Given the description of an element on the screen output the (x, y) to click on. 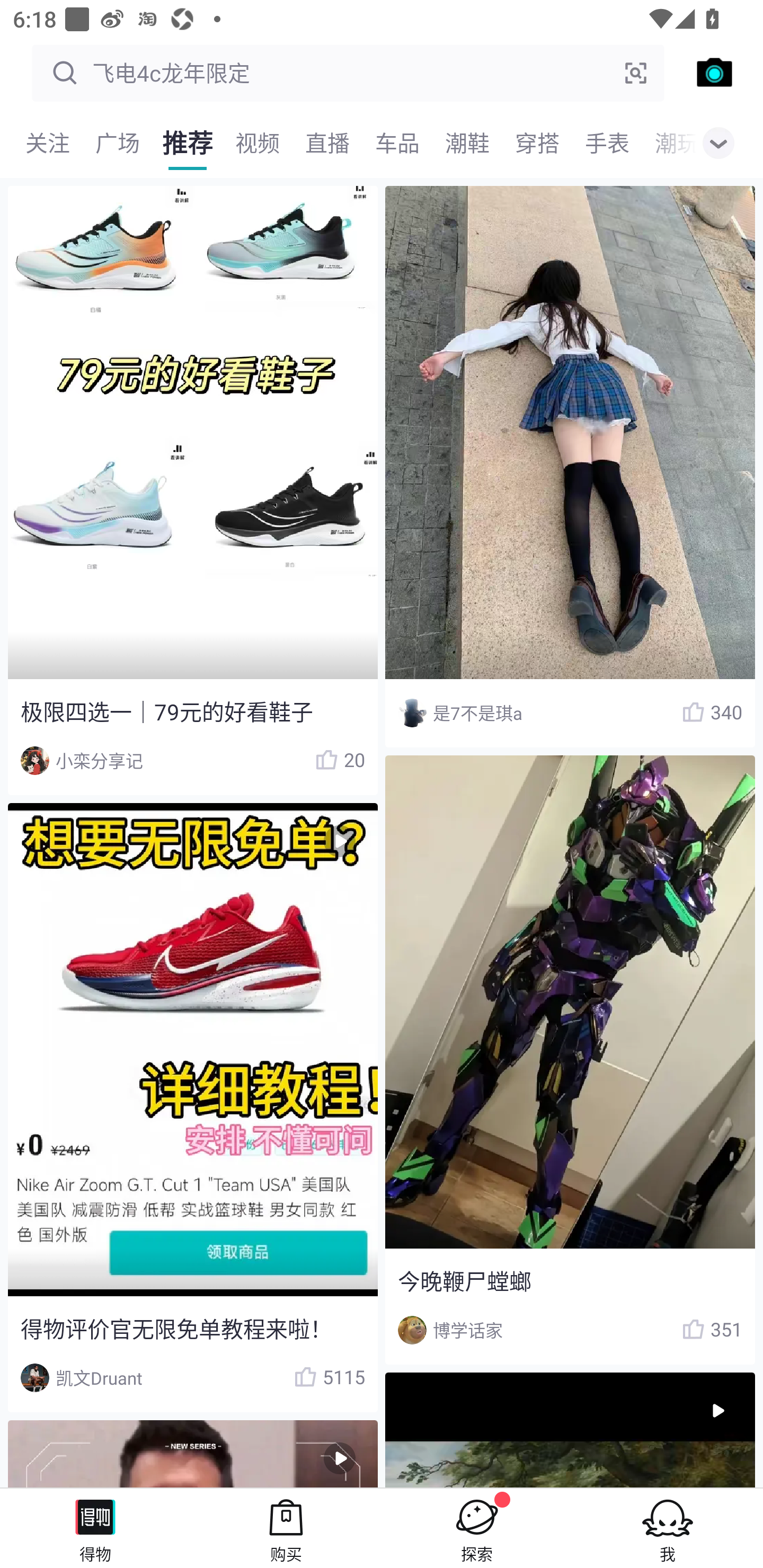
飞电4c龙年限定 (348, 72)
关注 (47, 143)
广场 (117, 143)
推荐 (187, 143)
视频 (257, 143)
直播 (327, 143)
车品 (397, 143)
潮鞋 (467, 143)
穿搭 (537, 143)
手表 (607, 143)
极限四选一｜79元的好看鞋子 小栾分享记 20 (192, 490)
是7不是琪a 340 (570, 466)
今晚鞭尸螳螂 博学话家 351 (570, 1059)
得物评价官无限免单教程来啦！ 凯文Druant 5115 (192, 1107)
得物 (95, 1528)
购买 (285, 1528)
探索 (476, 1528)
我 (667, 1528)
